Given the description of an element on the screen output the (x, y) to click on. 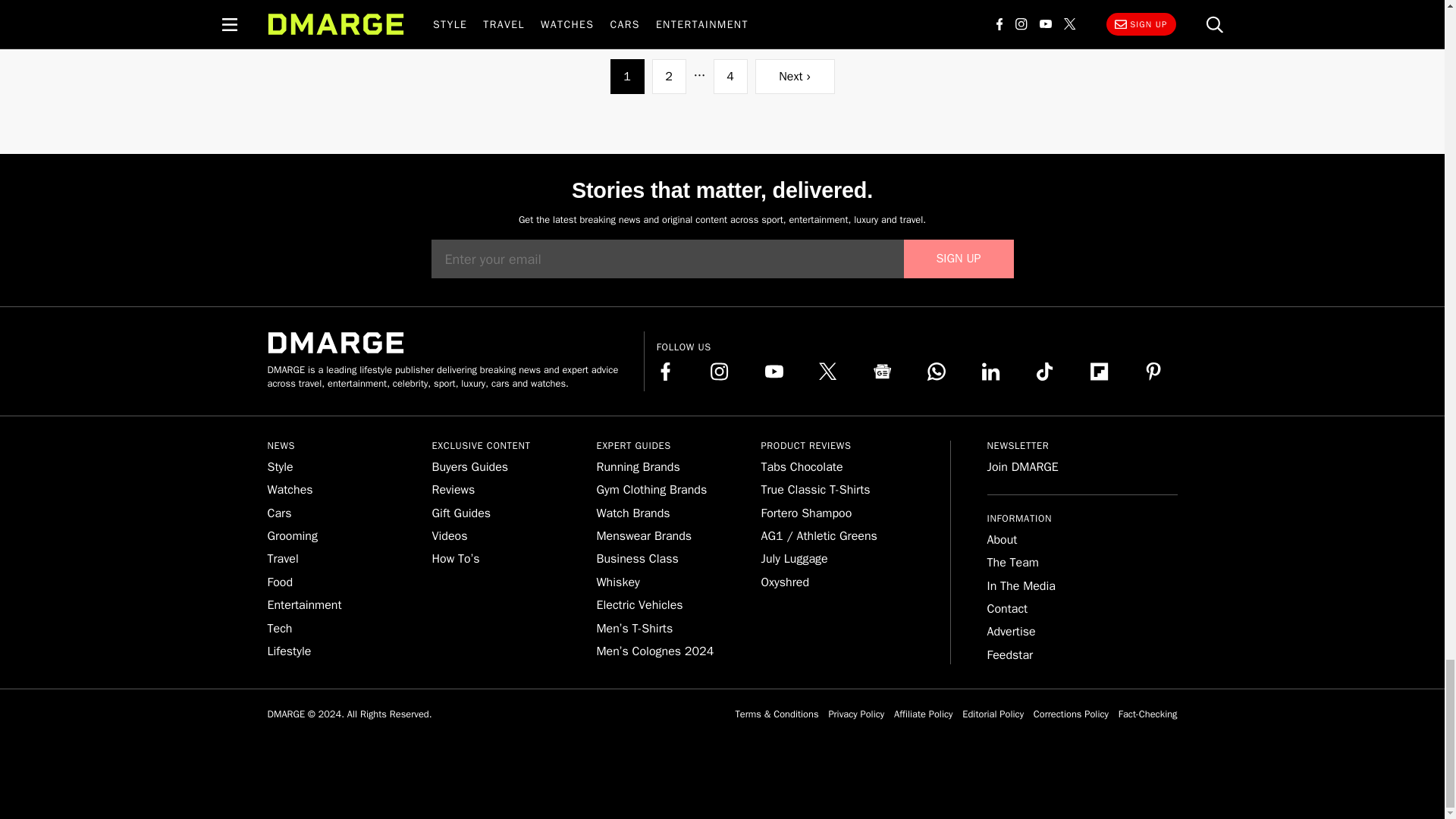
Visit us on Instagram (719, 371)
Visit us on WhatsApp (935, 371)
Visit us on Twitter (827, 371)
Visit us on YouTube (774, 371)
Visit us on LinkedIn (990, 371)
Visit us on TickTok (1044, 371)
Visit us on Google News (882, 371)
Visit us on Pinterest (1152, 371)
Visit us on Facebook (665, 371)
Visit us on Flipboard (1099, 371)
